Given the description of an element on the screen output the (x, y) to click on. 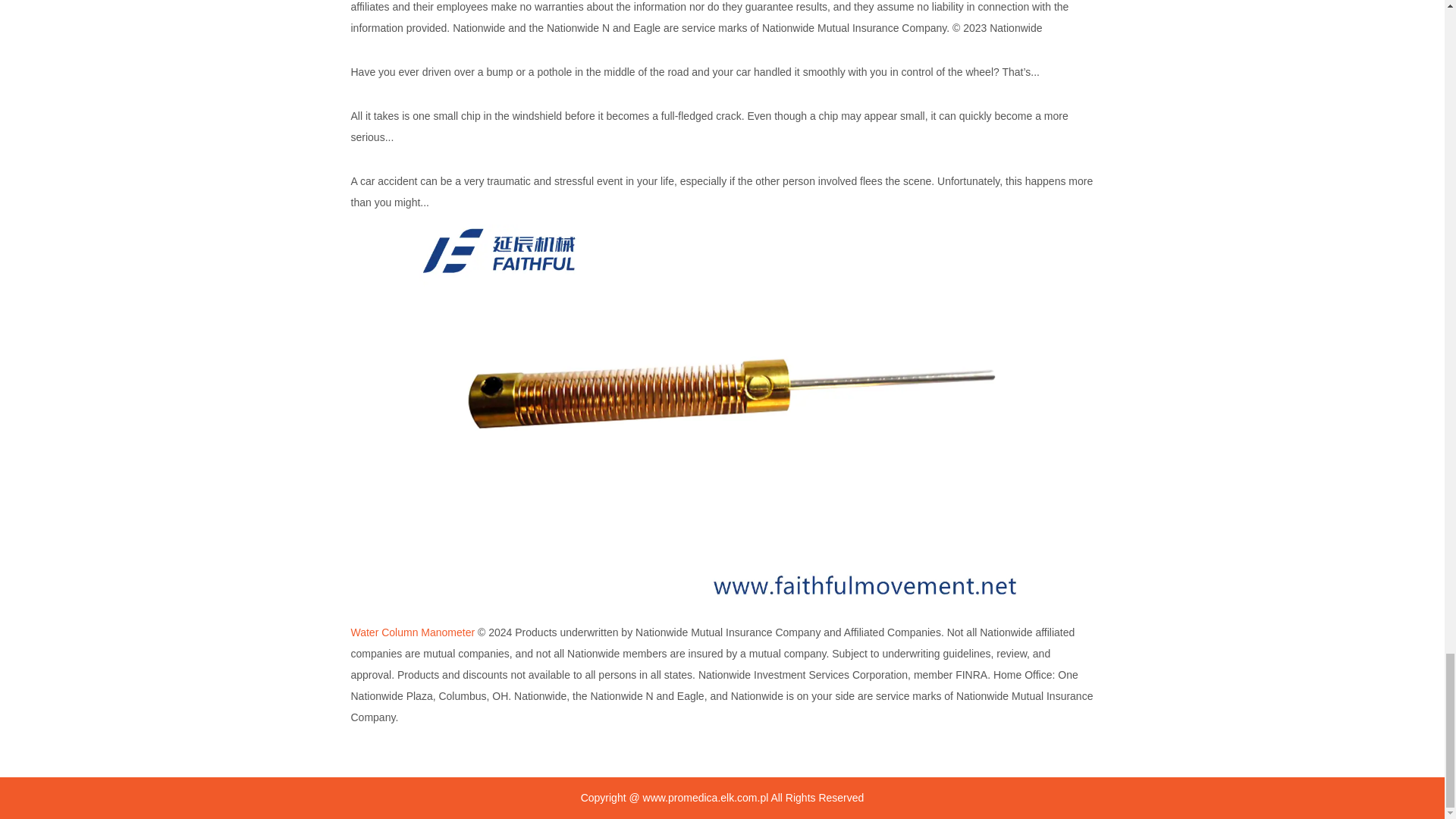
Water Column Manometer (412, 632)
